Given the description of an element on the screen output the (x, y) to click on. 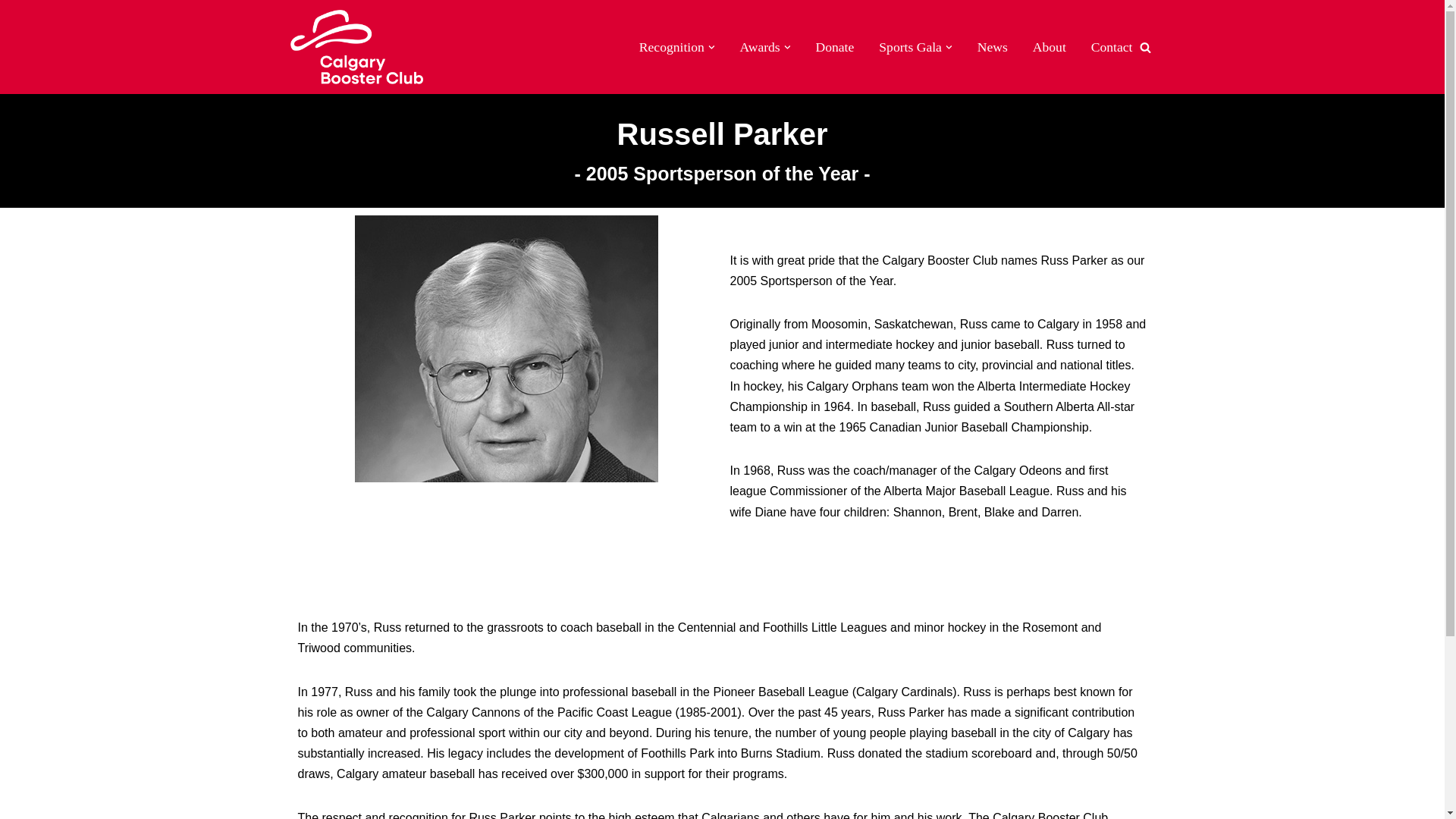
Sports Gala (910, 46)
About (1048, 46)
Skip to content (11, 31)
Donate (834, 46)
Recognition (671, 46)
Contact (1111, 46)
News (991, 46)
Awards (759, 46)
